Given the description of an element on the screen output the (x, y) to click on. 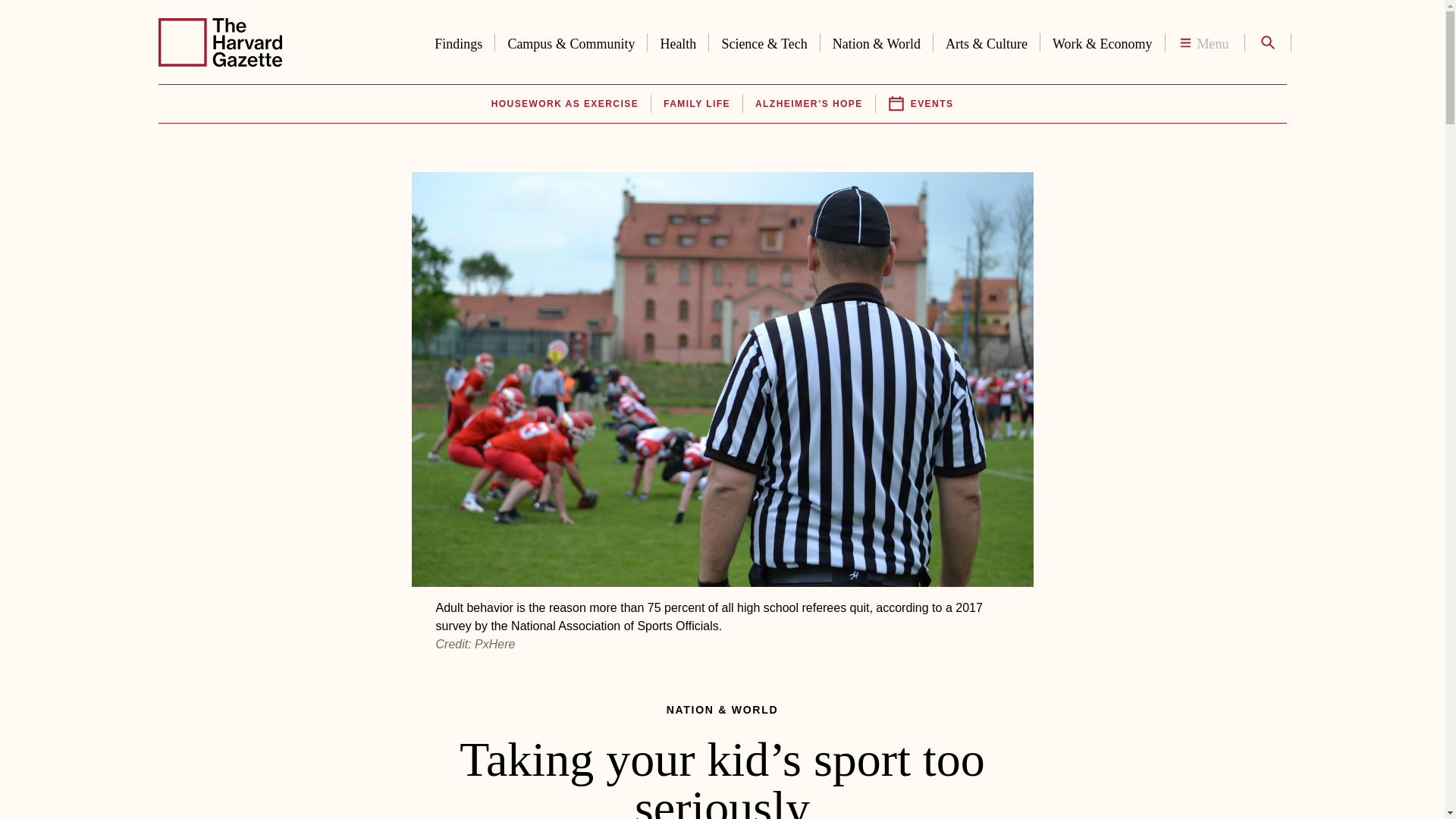
Health (677, 41)
FAMILY LIFE (697, 103)
Findings (457, 41)
Menu (1204, 42)
HOUSEWORK AS EXERCISE (564, 103)
Search (1266, 42)
